Given the description of an element on the screen output the (x, y) to click on. 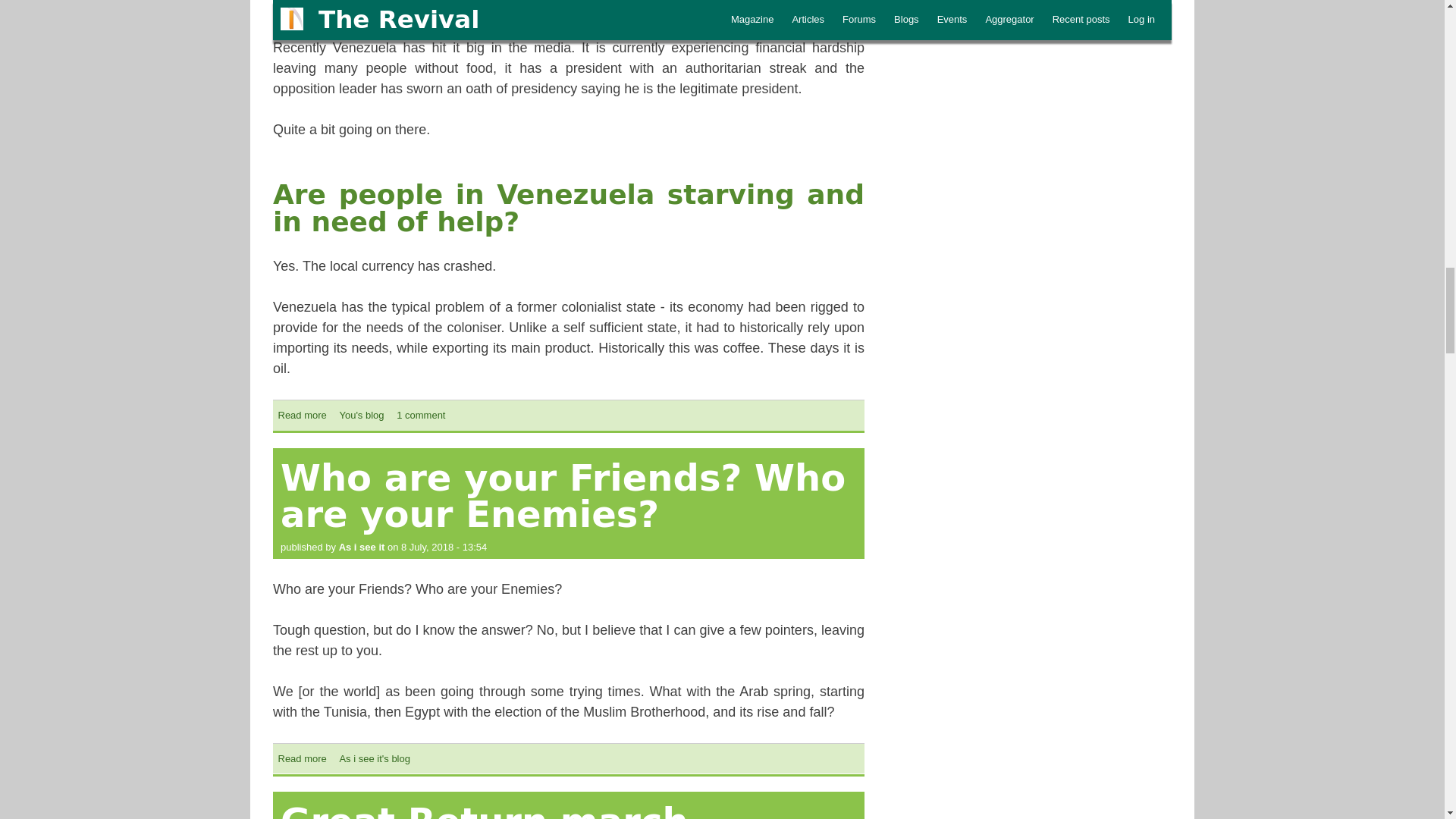
As i see it (362, 546)
1 comment (302, 757)
You's blog (302, 414)
Who are your Friends? Who are your Enemies? (420, 414)
As i see it's blog (361, 414)
